Given the description of an element on the screen output the (x, y) to click on. 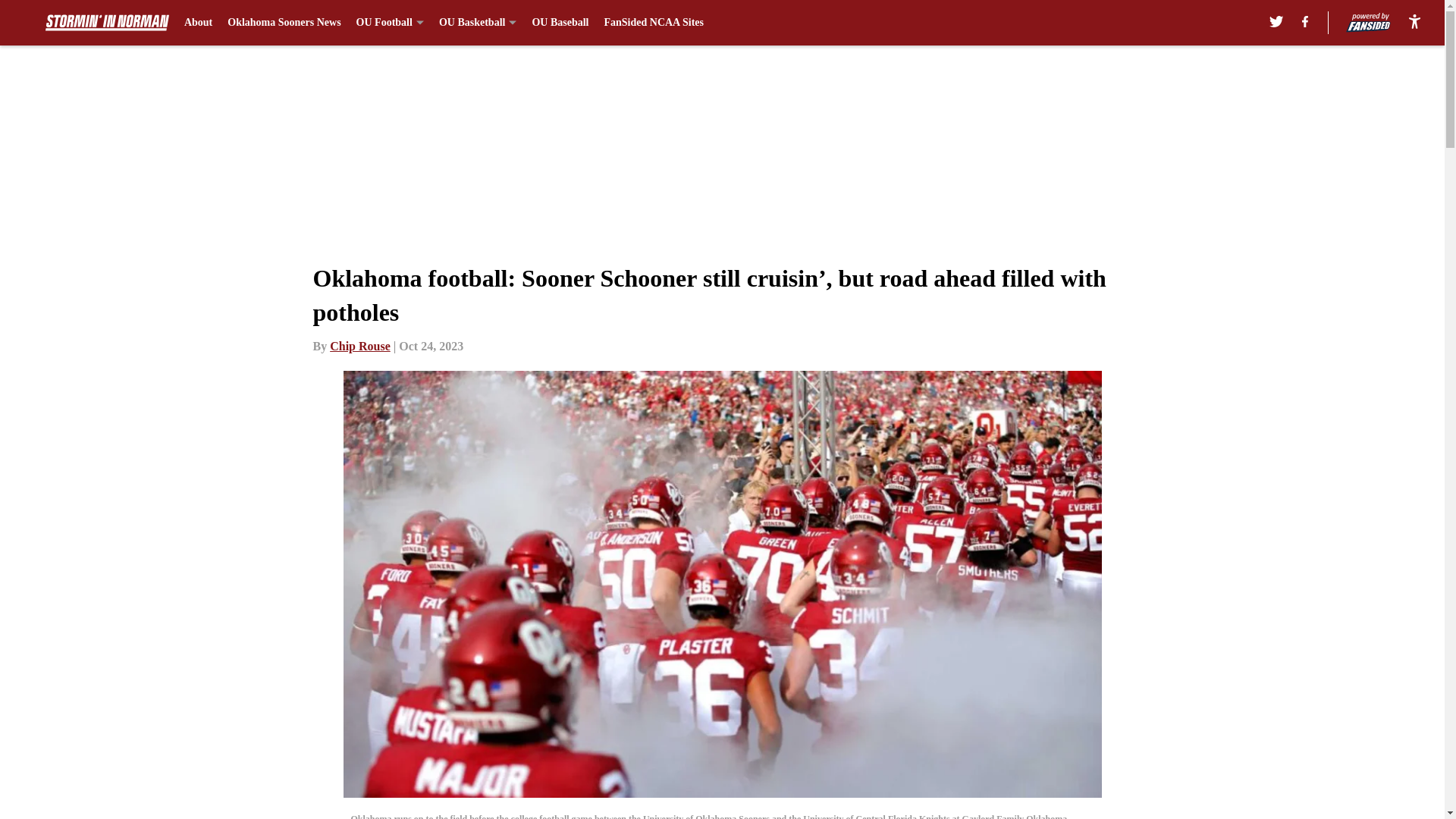
OU Baseball (559, 22)
Oklahoma Sooners News (283, 22)
Chip Rouse (360, 345)
FanSided NCAA Sites (653, 22)
About (198, 22)
